Given the description of an element on the screen output the (x, y) to click on. 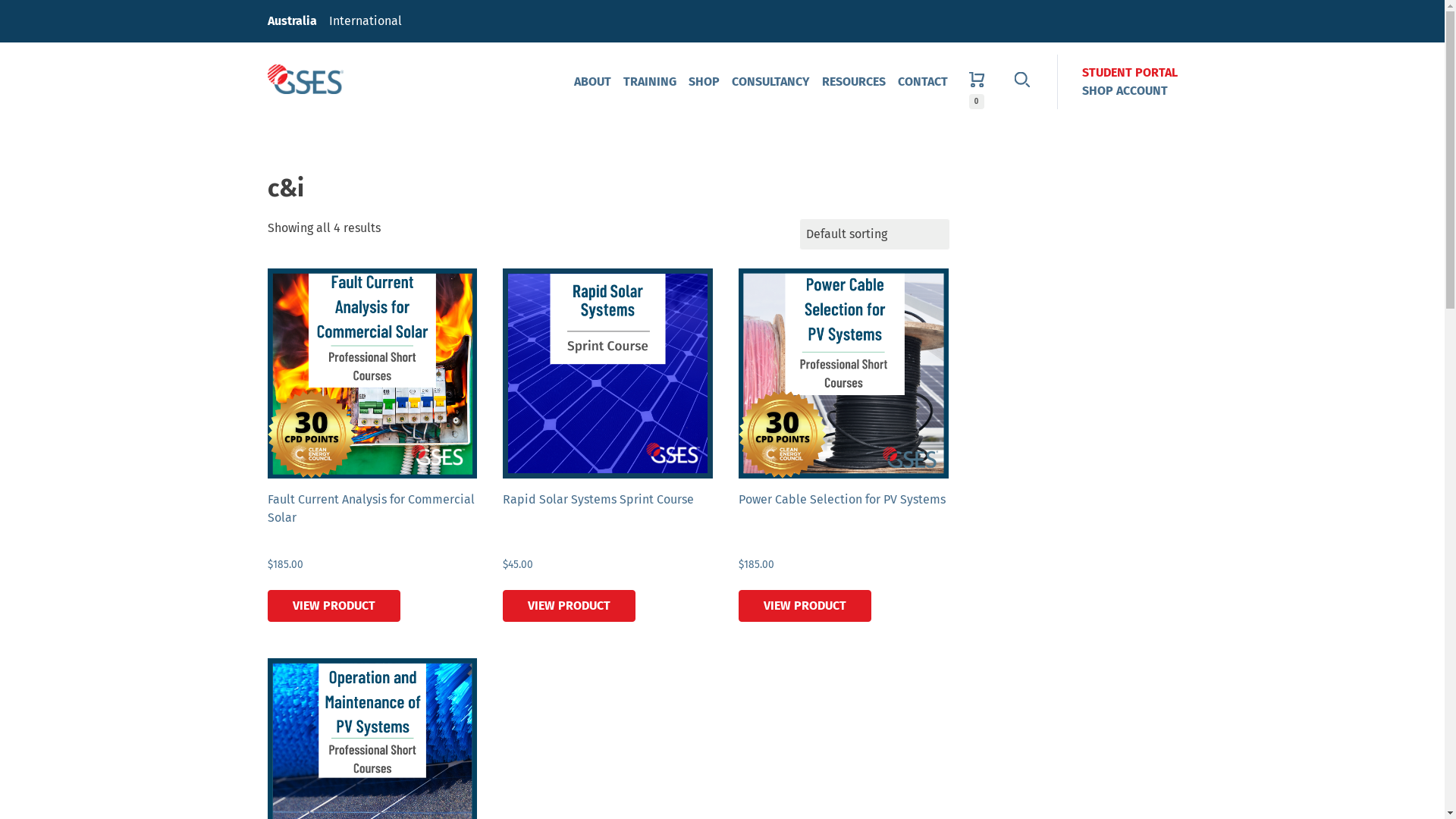
SHOP ACCOUNT Element type: text (1124, 90)
VIEW PRODUCT Element type: text (332, 605)
VIEW PRODUCT Element type: text (568, 605)
RESOURCES Element type: text (853, 81)
CONSULTANCY Element type: text (769, 81)
VIEW PRODUCT Element type: text (804, 605)
SEARCH Element type: text (1021, 81)
Australia Element type: text (291, 21)
STUDENT PORTAL Element type: text (1128, 72)
SHOP Element type: text (703, 81)
ABOUT Element type: text (591, 81)
CONTACT Element type: text (922, 81)
GSES Element type: text (304, 80)
Fault Current Analysis for Commercial Solar
$185.00 Element type: text (371, 440)
Rapid Solar Systems Sprint Course
$45.00 Element type: text (607, 440)
International Element type: text (365, 21)
TRAINING Element type: text (649, 81)
CART
0 Element type: text (976, 81)
Power Cable Selection for PV Systems
$185.00 Element type: text (843, 440)
